Given the description of an element on the screen output the (x, y) to click on. 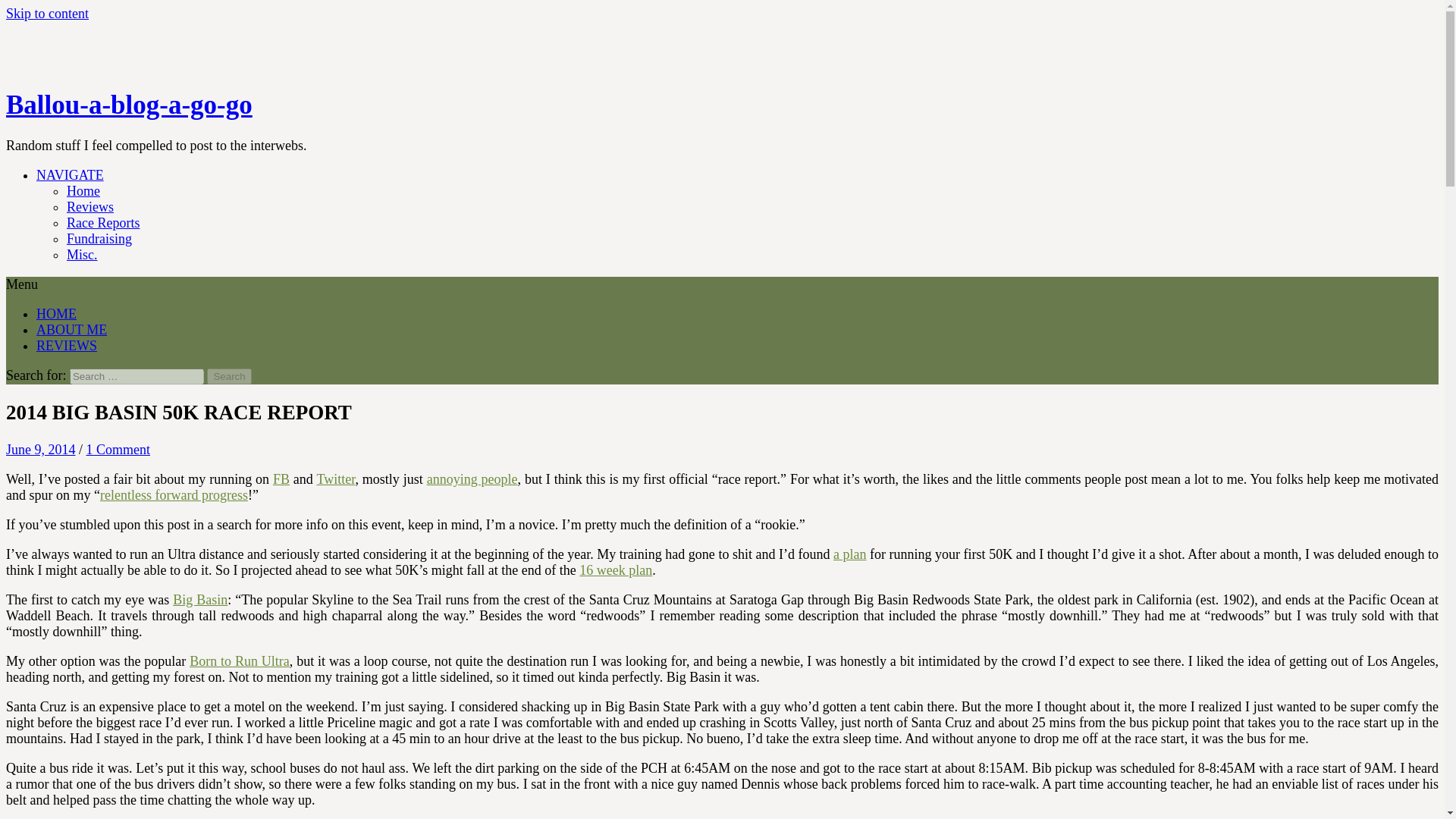
FB (281, 478)
Home (83, 191)
Race Reports (102, 222)
ABOUT ME (71, 329)
Big Basin (200, 599)
Skip to content (46, 13)
Reviews (89, 206)
1 Comment (118, 449)
Ballou-a-blog-a-go-go (128, 104)
Twitter (335, 478)
